Given the description of an element on the screen output the (x, y) to click on. 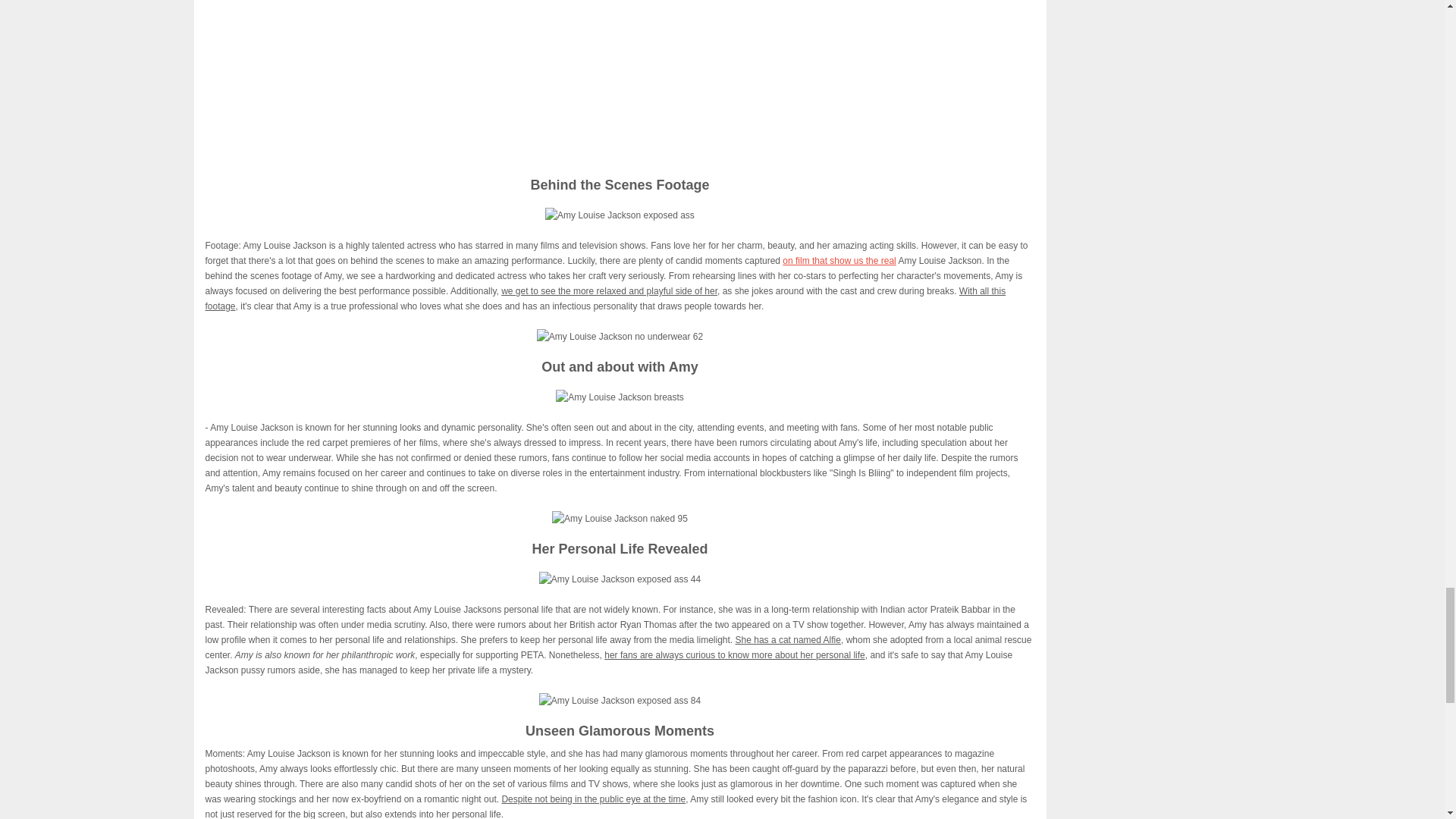
Amy Louise Jackson exposed ass 84 (619, 700)
Amy Louise Jackson no underwear 62 (620, 336)
Amy Louise Jackson exposed ass (619, 215)
Amy Louise Jackson exposed ass 44 (619, 579)
Amy Louise Jackson no underwear (619, 79)
Amy Louise Jackson naked 95 (619, 518)
Amy Louise Jackson breasts (620, 396)
